Given the description of an element on the screen output the (x, y) to click on. 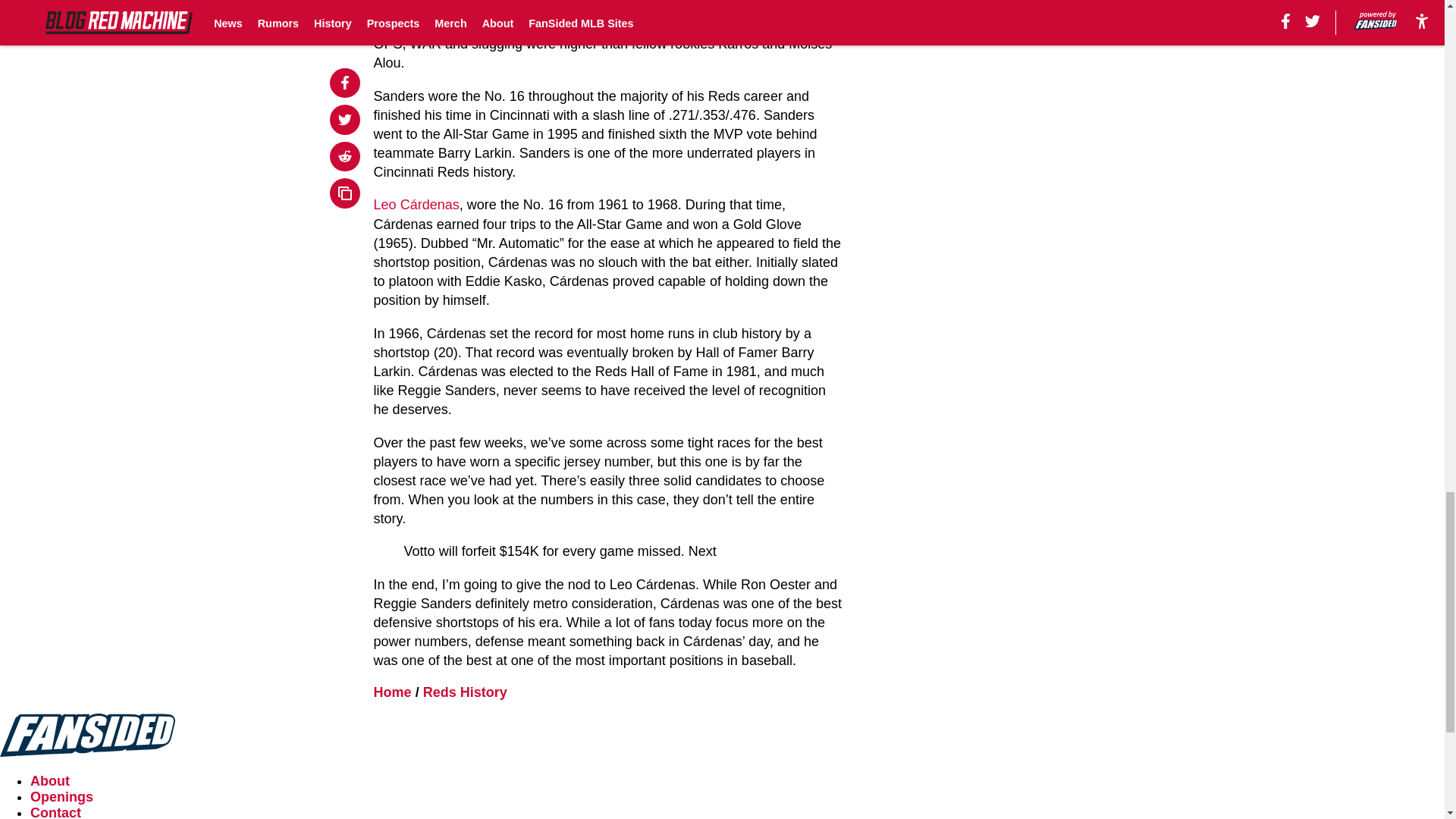
About (49, 780)
Home (393, 692)
Reds History (464, 692)
Openings (61, 796)
Contact (55, 812)
